Given the description of an element on the screen output the (x, y) to click on. 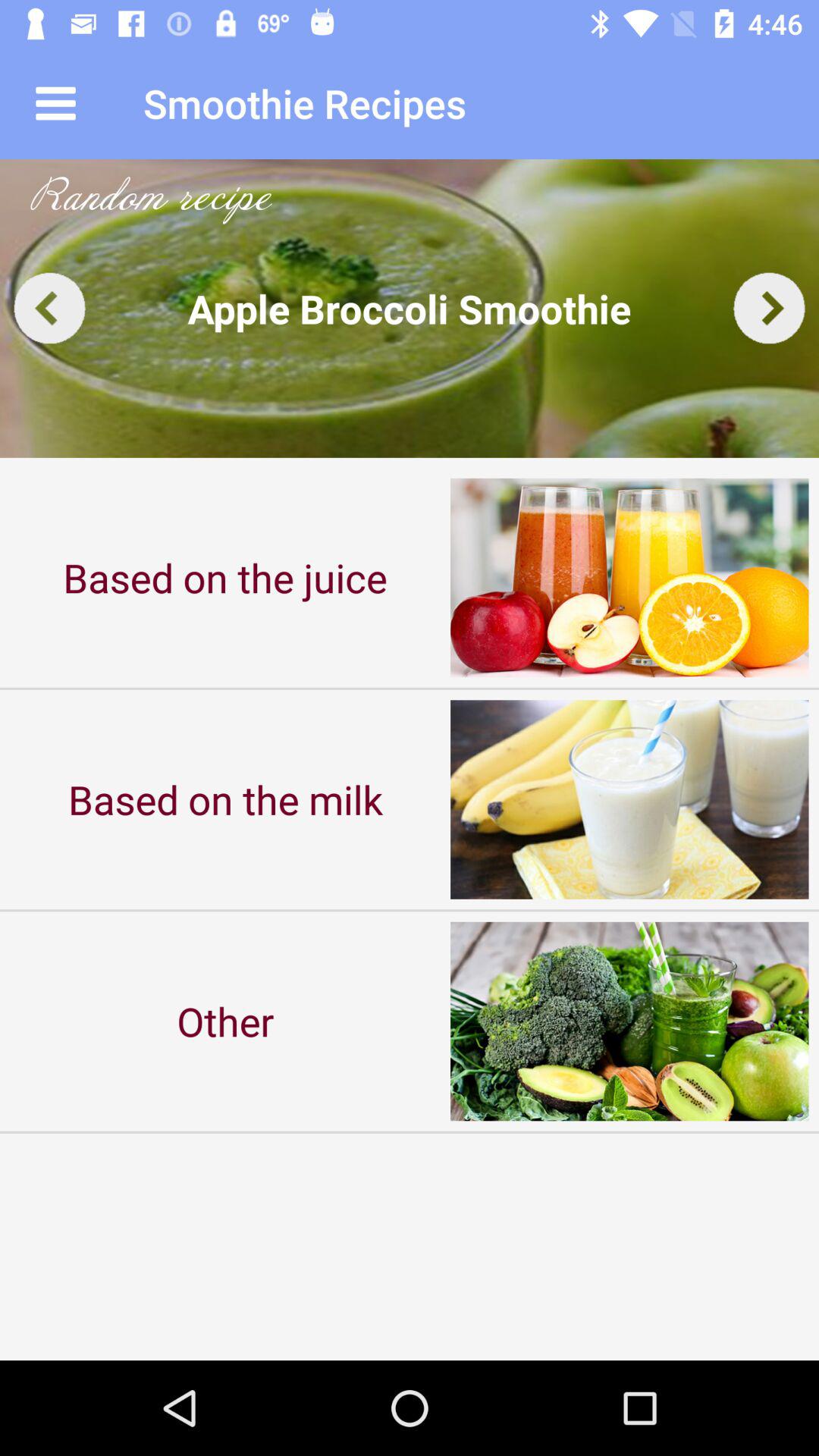
this button takes me to another recipe image (49, 308)
